Given the description of an element on the screen output the (x, y) to click on. 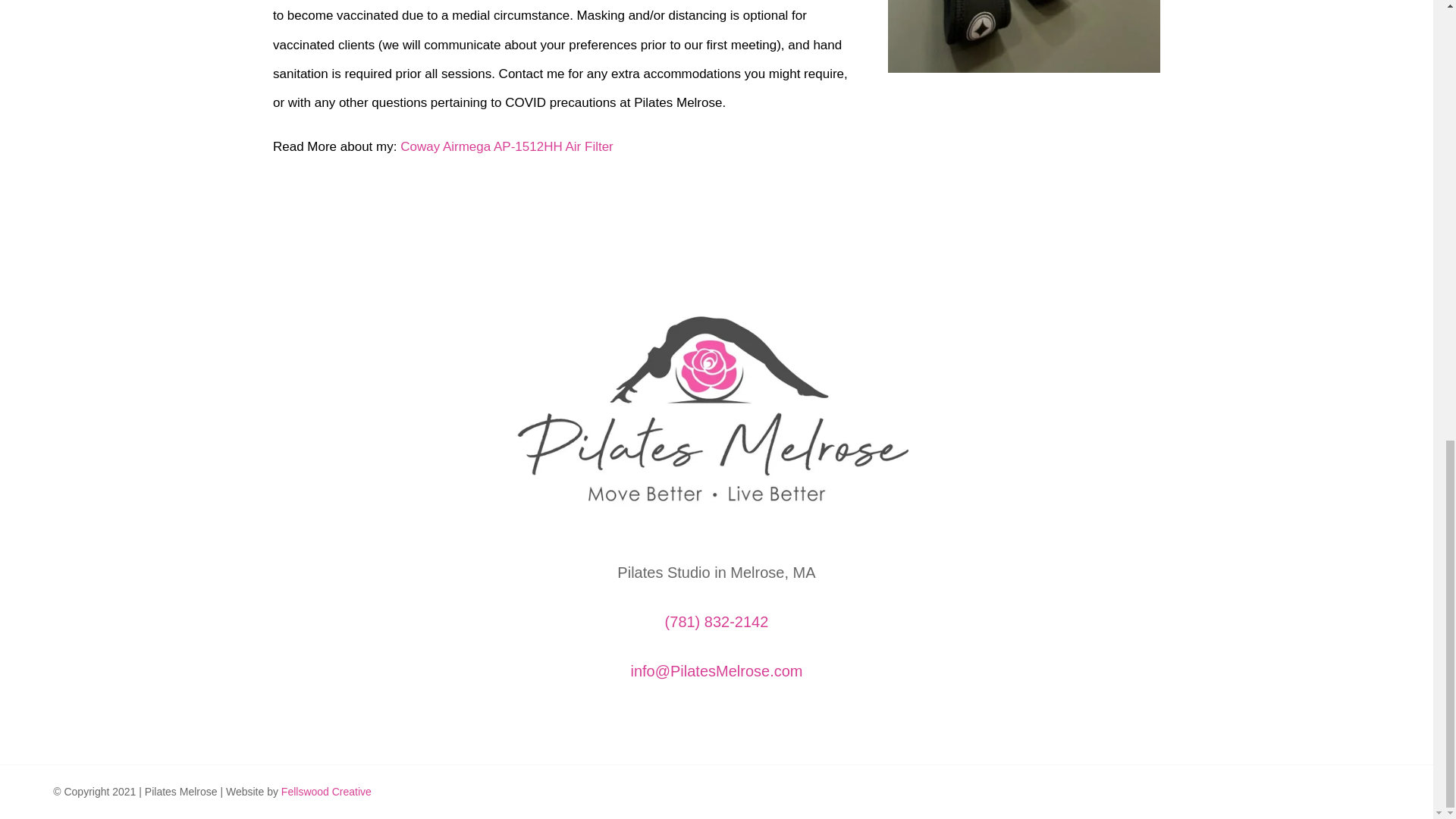
Coway Airmega AP-1512HH Air Filter (506, 146)
Fellswood Creative (326, 791)
pilates-massachusetts (1024, 36)
